Given the description of an element on the screen output the (x, y) to click on. 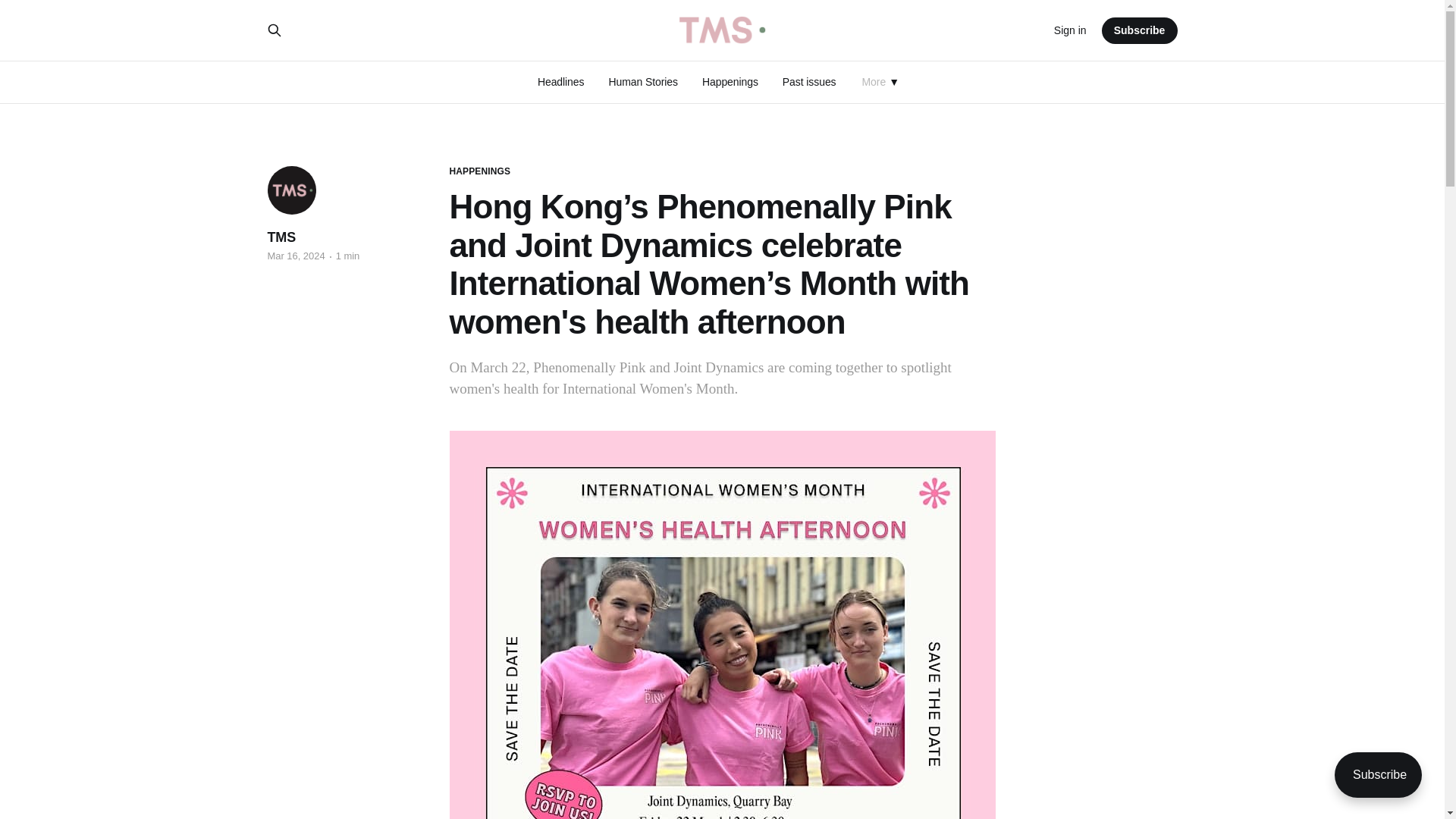
Past issues (809, 81)
Happenings (729, 81)
Headlines (561, 81)
Human Stories (643, 81)
